Given the description of an element on the screen output the (x, y) to click on. 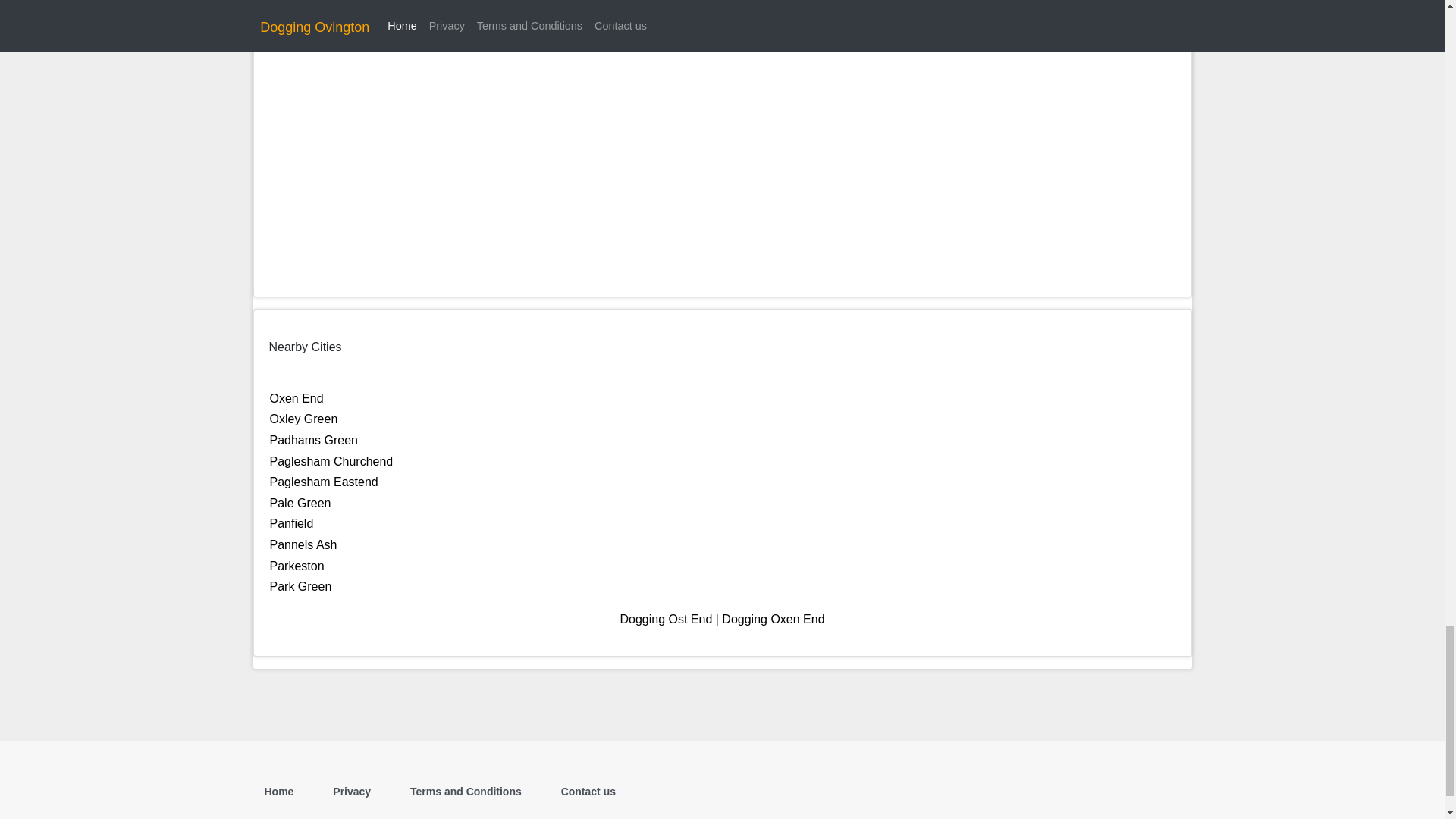
Park Green (300, 585)
Oxen End (296, 398)
Oxley Green (303, 418)
Panfield (291, 522)
Dogging Ost End (665, 618)
Padhams Green (313, 440)
Pannels Ash (303, 544)
Pale Green (300, 502)
Paglesham Eastend (323, 481)
Parkeston (296, 565)
